Given the description of an element on the screen output the (x, y) to click on. 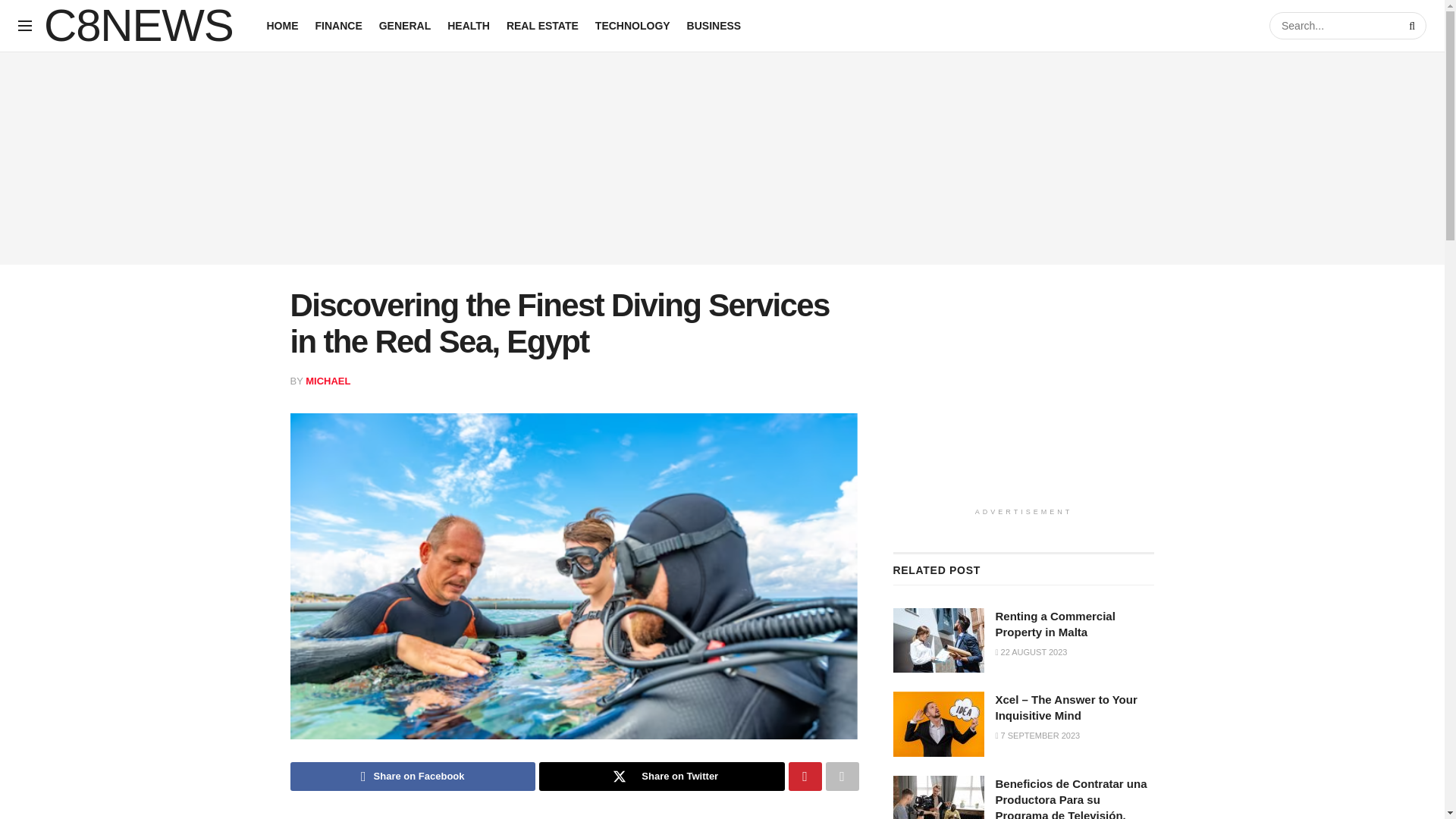
Share on Twitter (661, 776)
REAL ESTATE (542, 25)
MICHAEL (327, 380)
C8NEWS (137, 25)
Share on Facebook (412, 776)
GENERAL (404, 25)
FINANCE (338, 25)
Advertisement (1023, 393)
BUSINESS (714, 25)
